Given the description of an element on the screen output the (x, y) to click on. 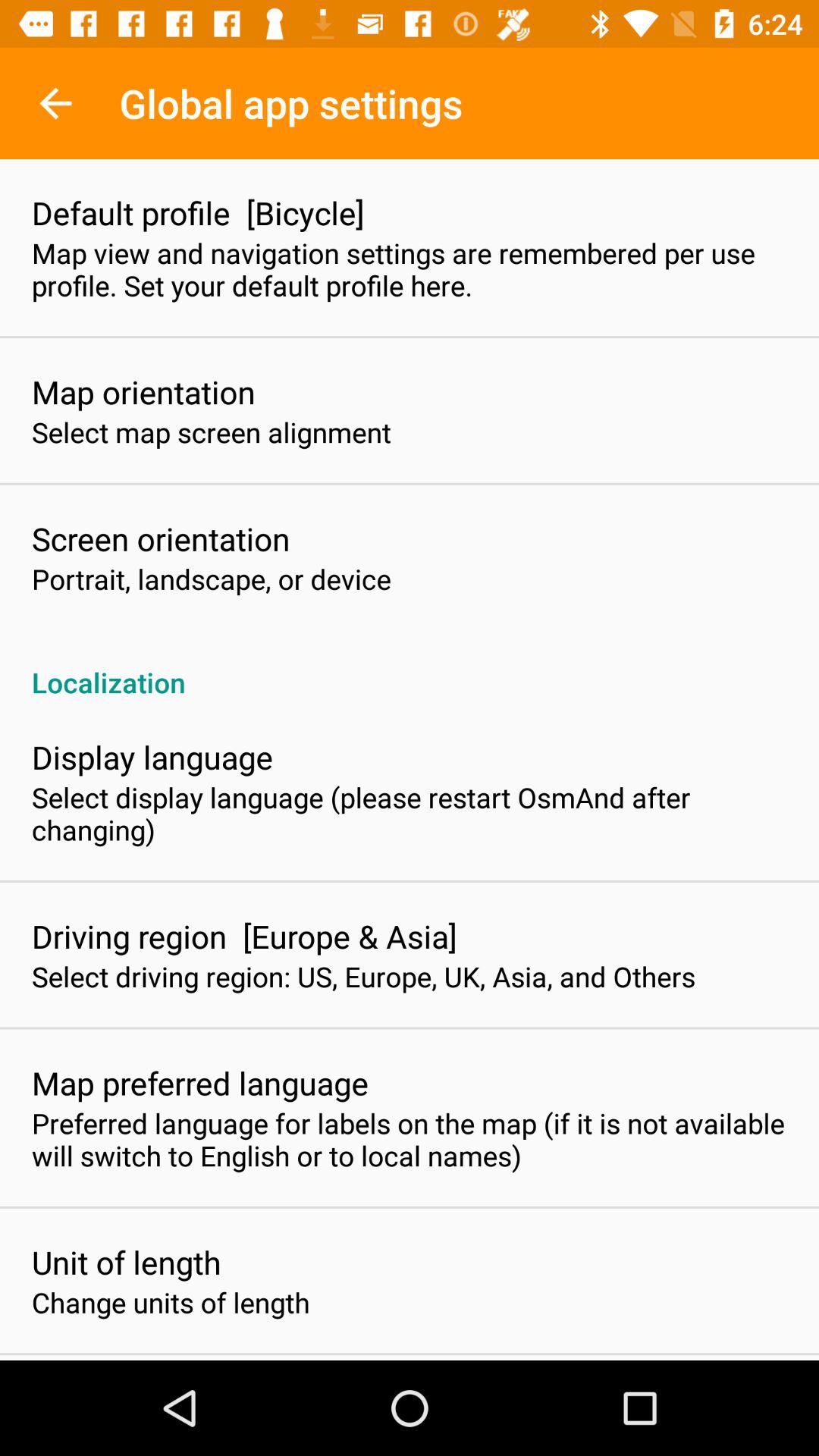
turn on the item above the display language icon (409, 666)
